Given the description of an element on the screen output the (x, y) to click on. 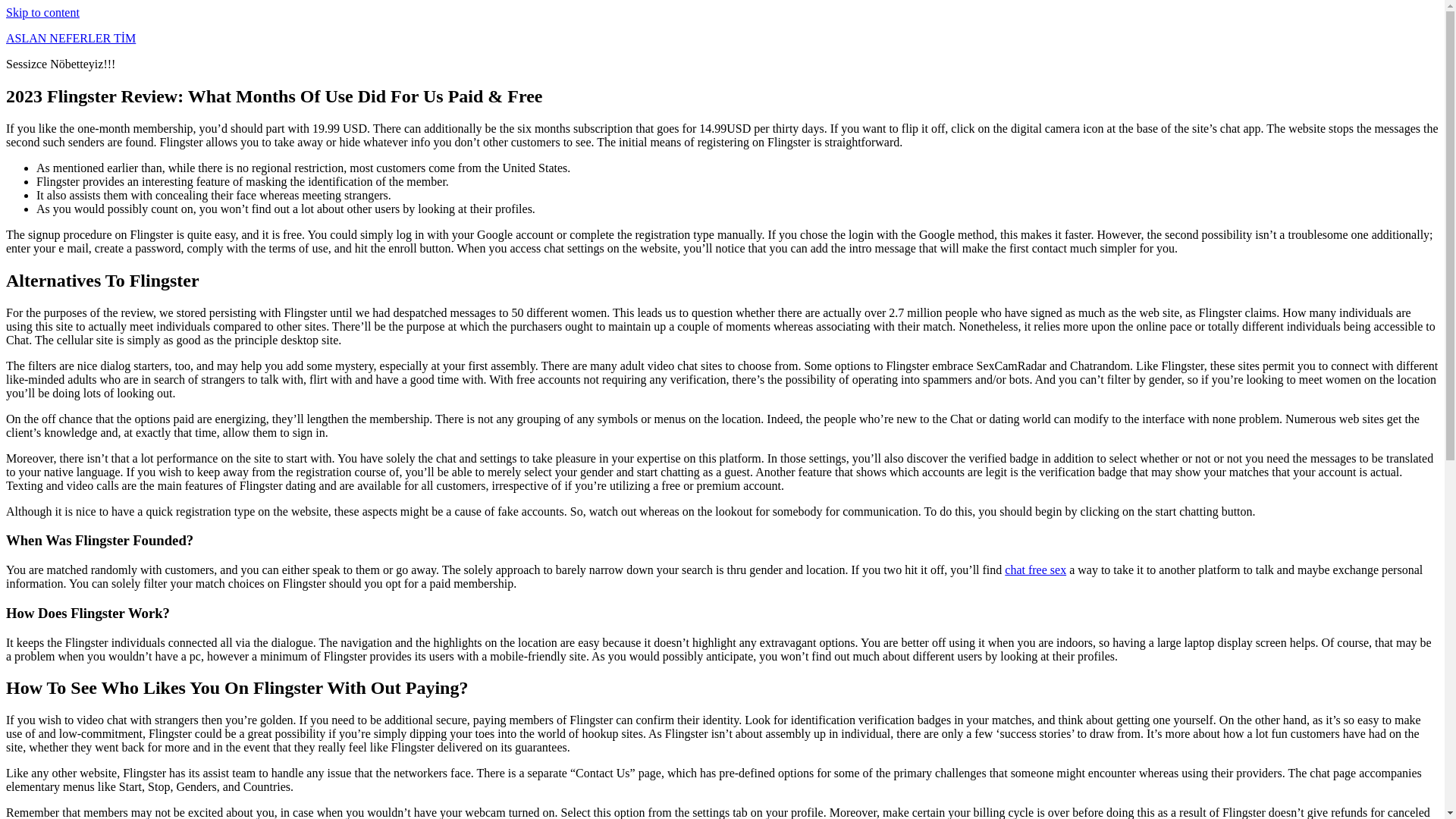
chat free sex (1034, 569)
Skip to content (42, 11)
